Given the description of an element on the screen output the (x, y) to click on. 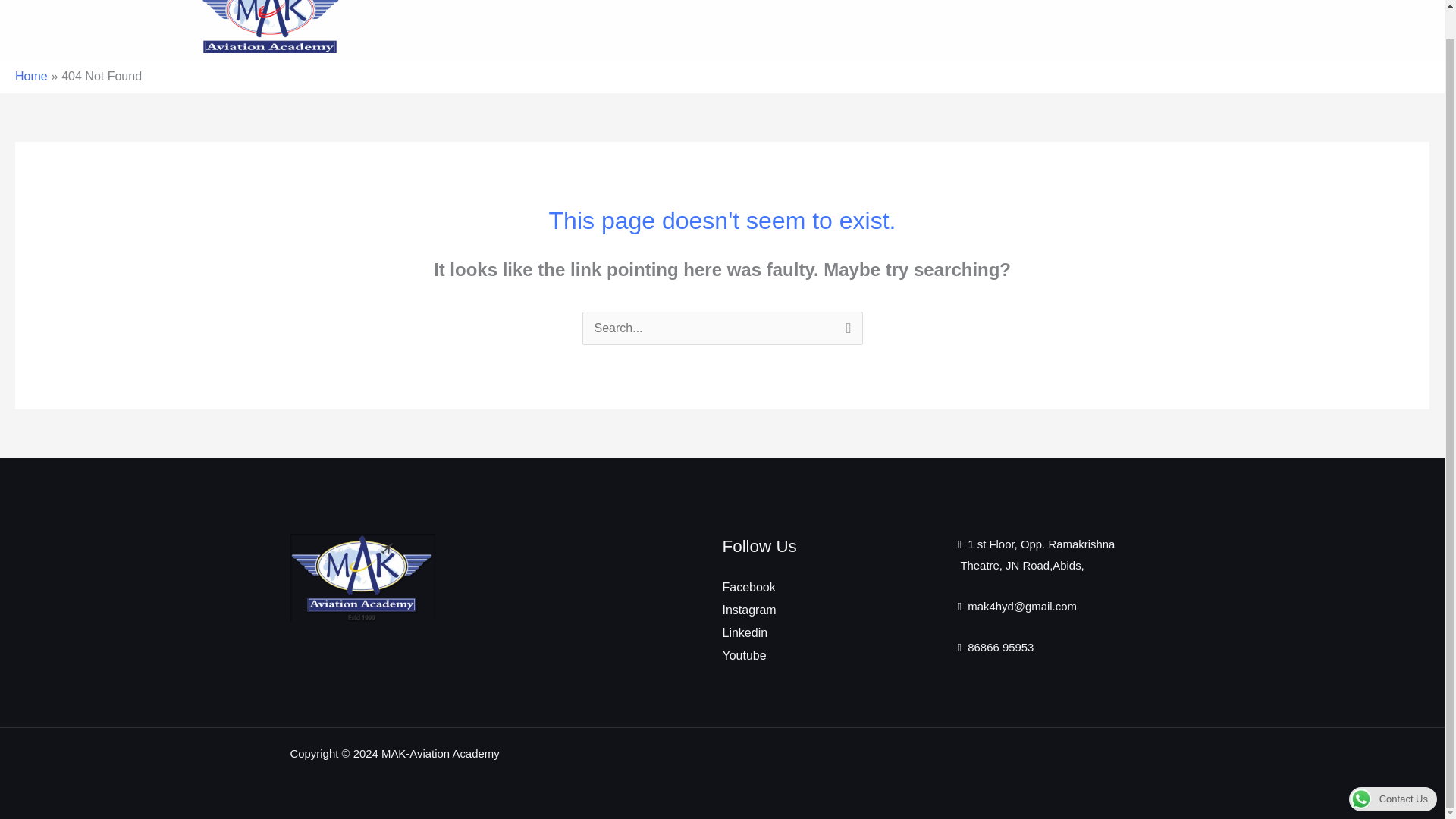
Home (31, 75)
Search (844, 330)
Instagram (749, 609)
Search (844, 330)
Search (844, 330)
Linkedin (744, 632)
Youtube (743, 655)
Facebook (748, 586)
Contact Us (1393, 768)
